Given the description of an element on the screen output the (x, y) to click on. 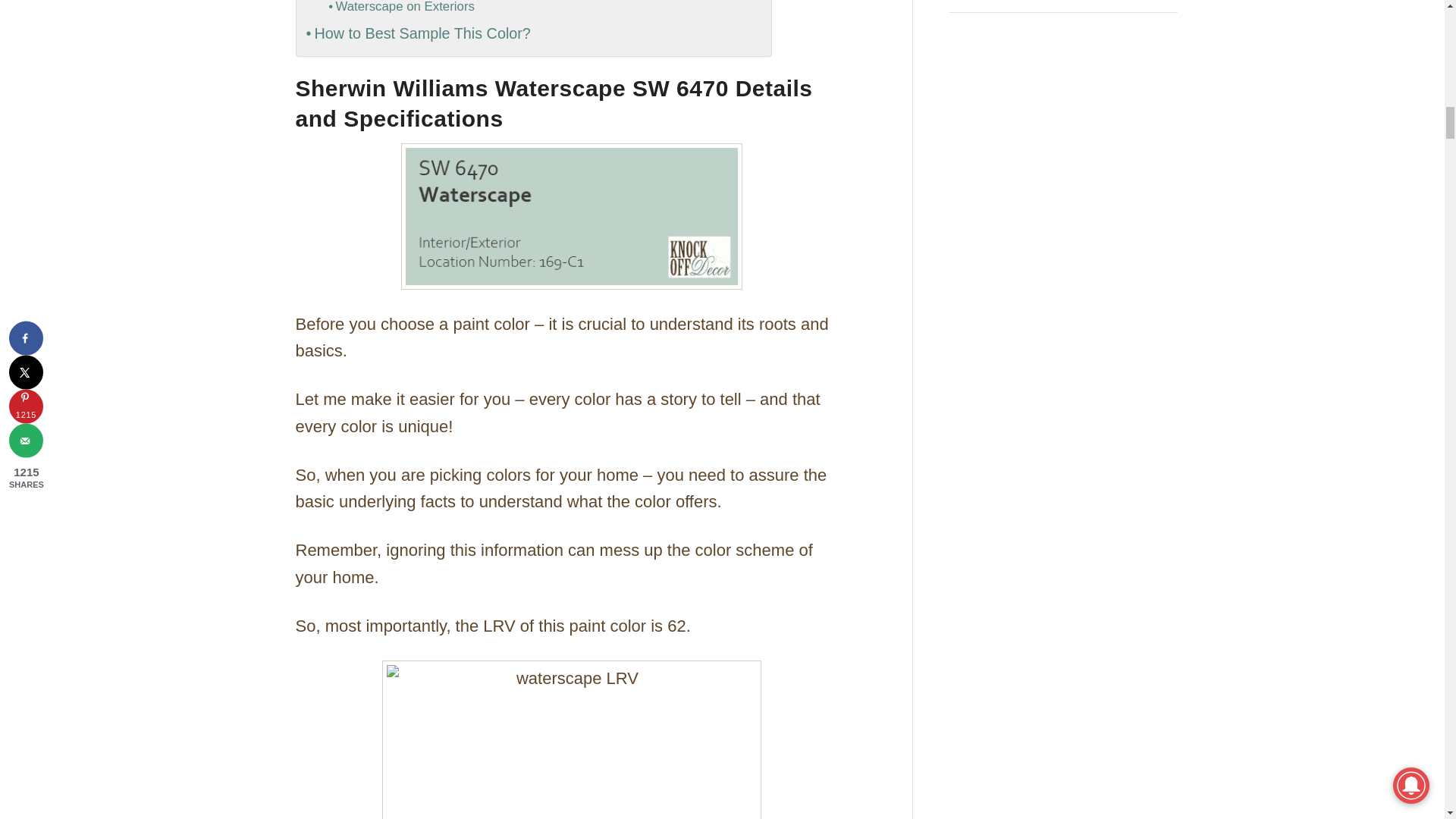
Waterscape on Exteriors (401, 9)
